Given the description of an element on the screen output the (x, y) to click on. 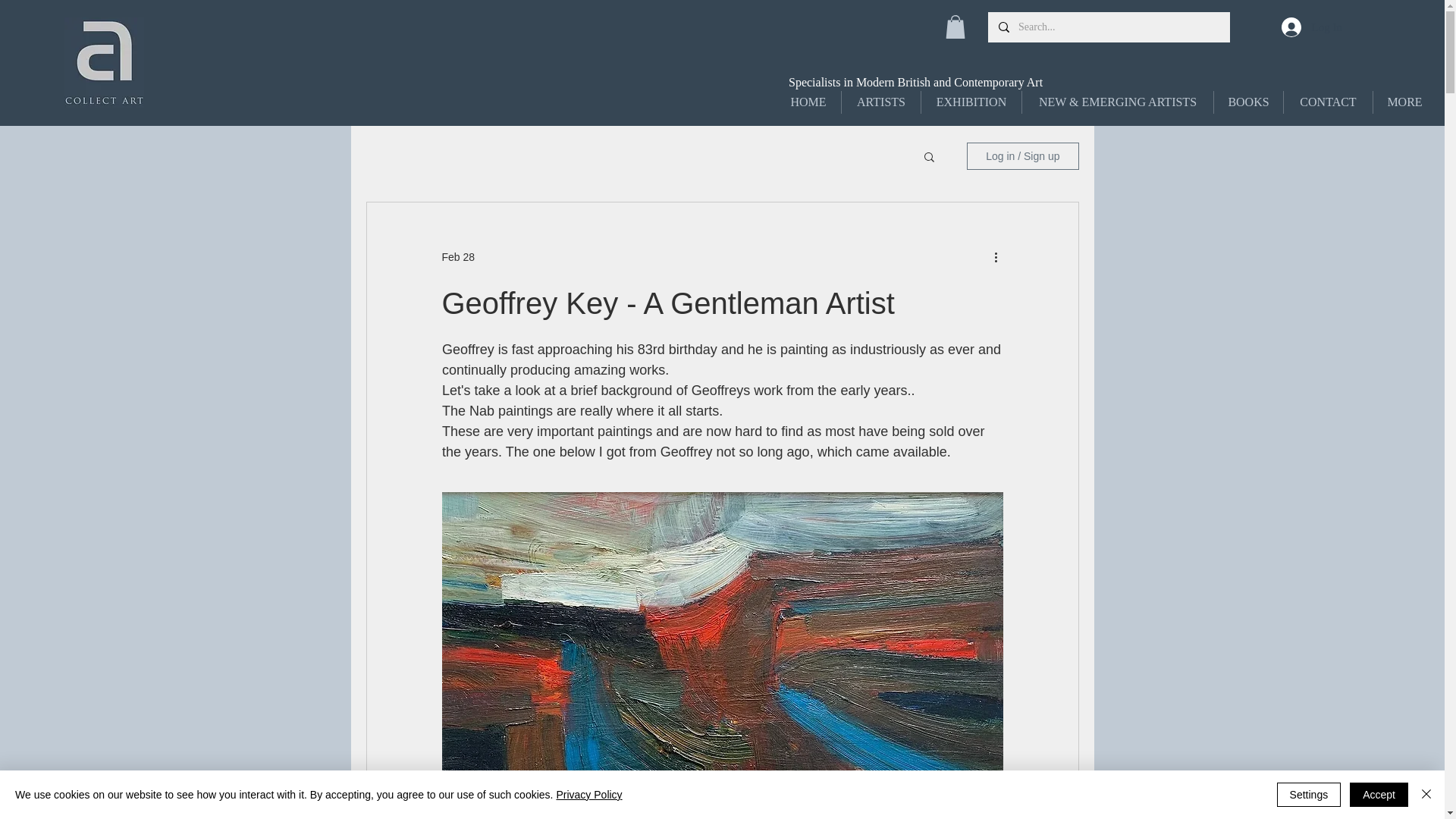
EXHIBITION (971, 101)
ARTISTS (880, 101)
HOME (808, 101)
BOOKS (1248, 101)
Feb 28 (457, 256)
CONTACT (1328, 101)
Log In (1311, 27)
